Given the description of an element on the screen output the (x, y) to click on. 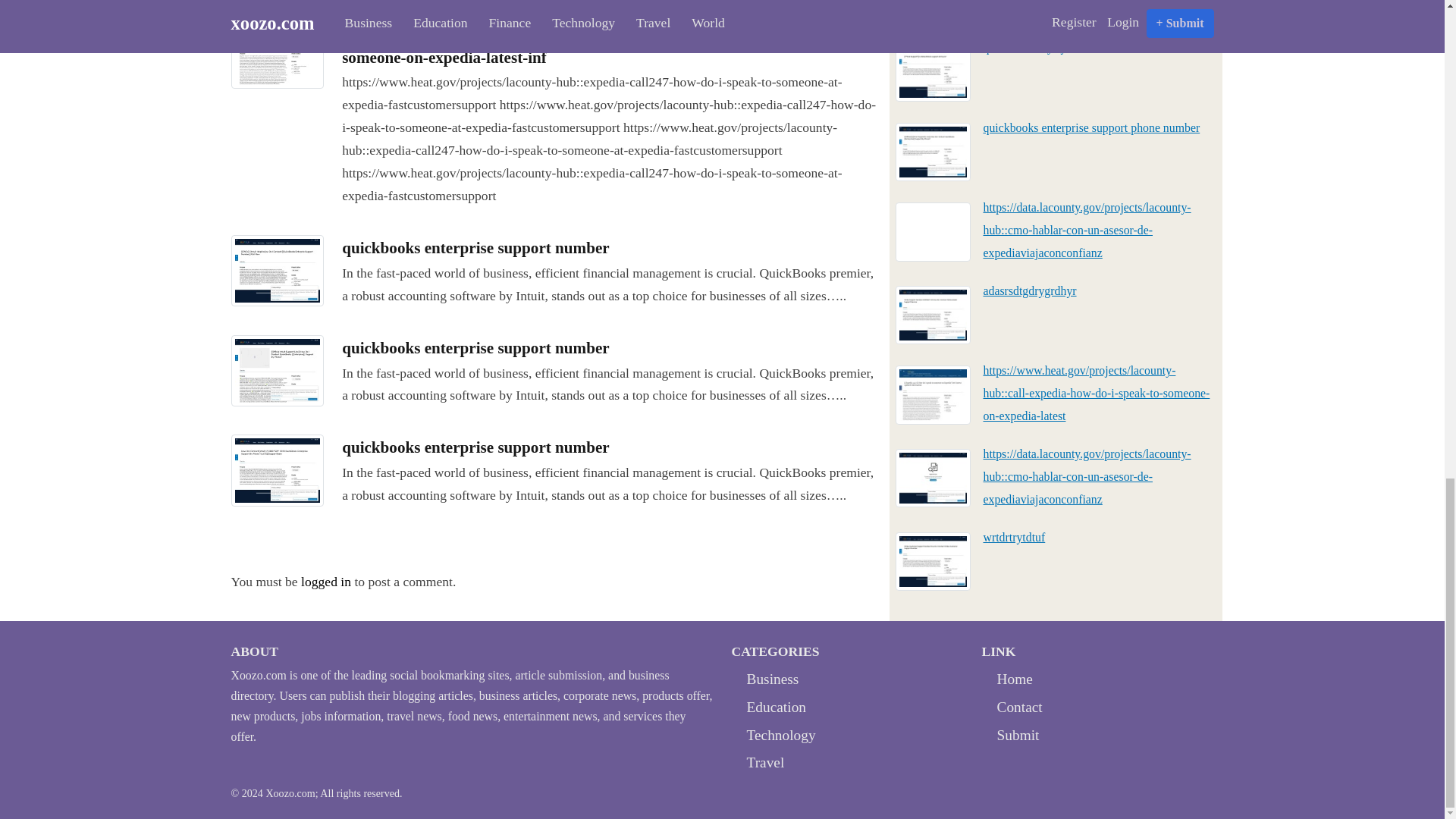
logged in (325, 581)
quickbooks enterprise support number (475, 248)
quickbooks enterprise support number (276, 268)
quickbooks enterprise support number (475, 348)
quickbooks enterprise support number (475, 248)
quickbooks enterprise support number (475, 447)
